Given the description of an element on the screen output the (x, y) to click on. 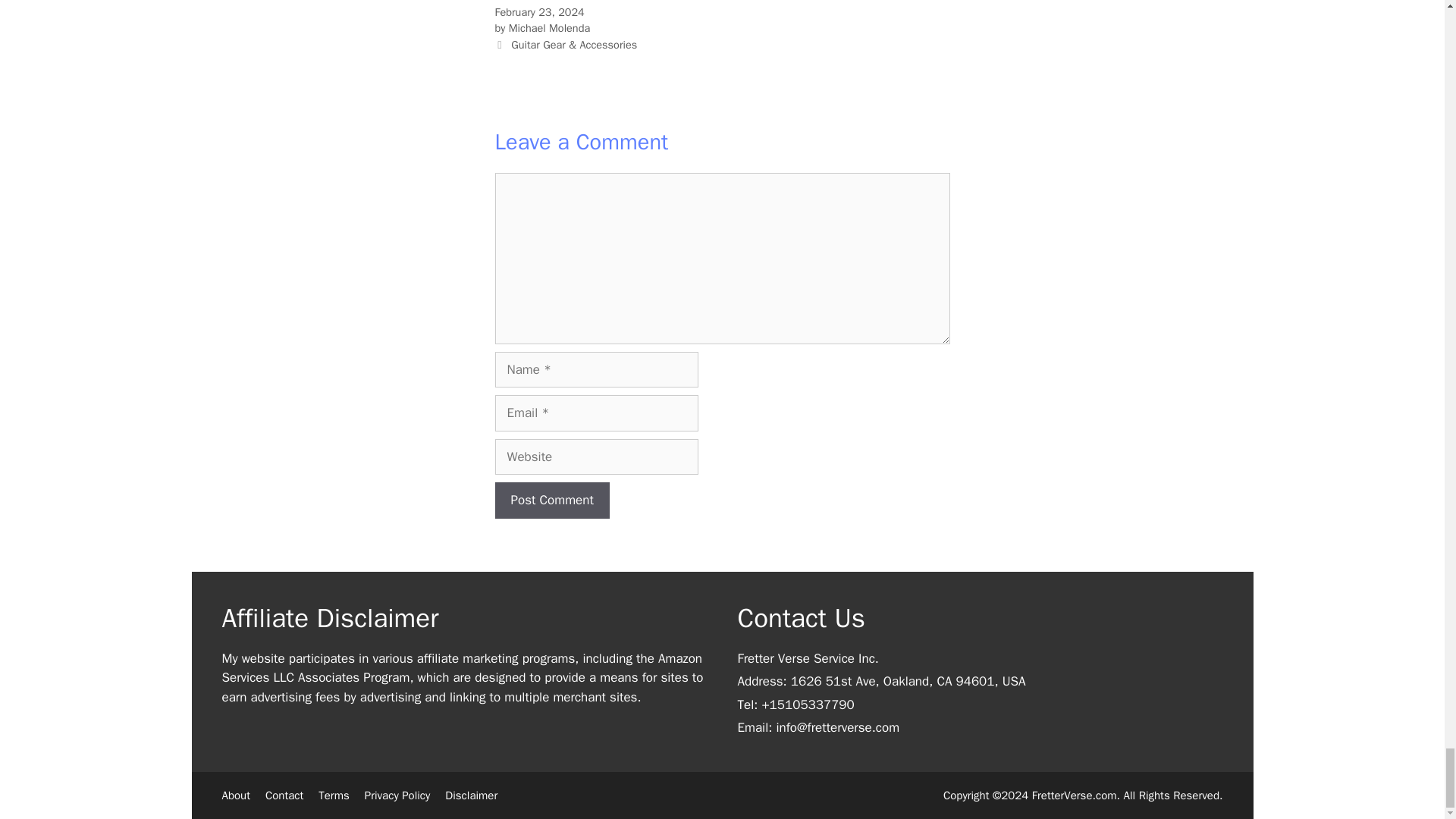
View all posts by Michael Molenda (549, 28)
Post Comment (551, 500)
9:11 am (539, 11)
